Given the description of an element on the screen output the (x, y) to click on. 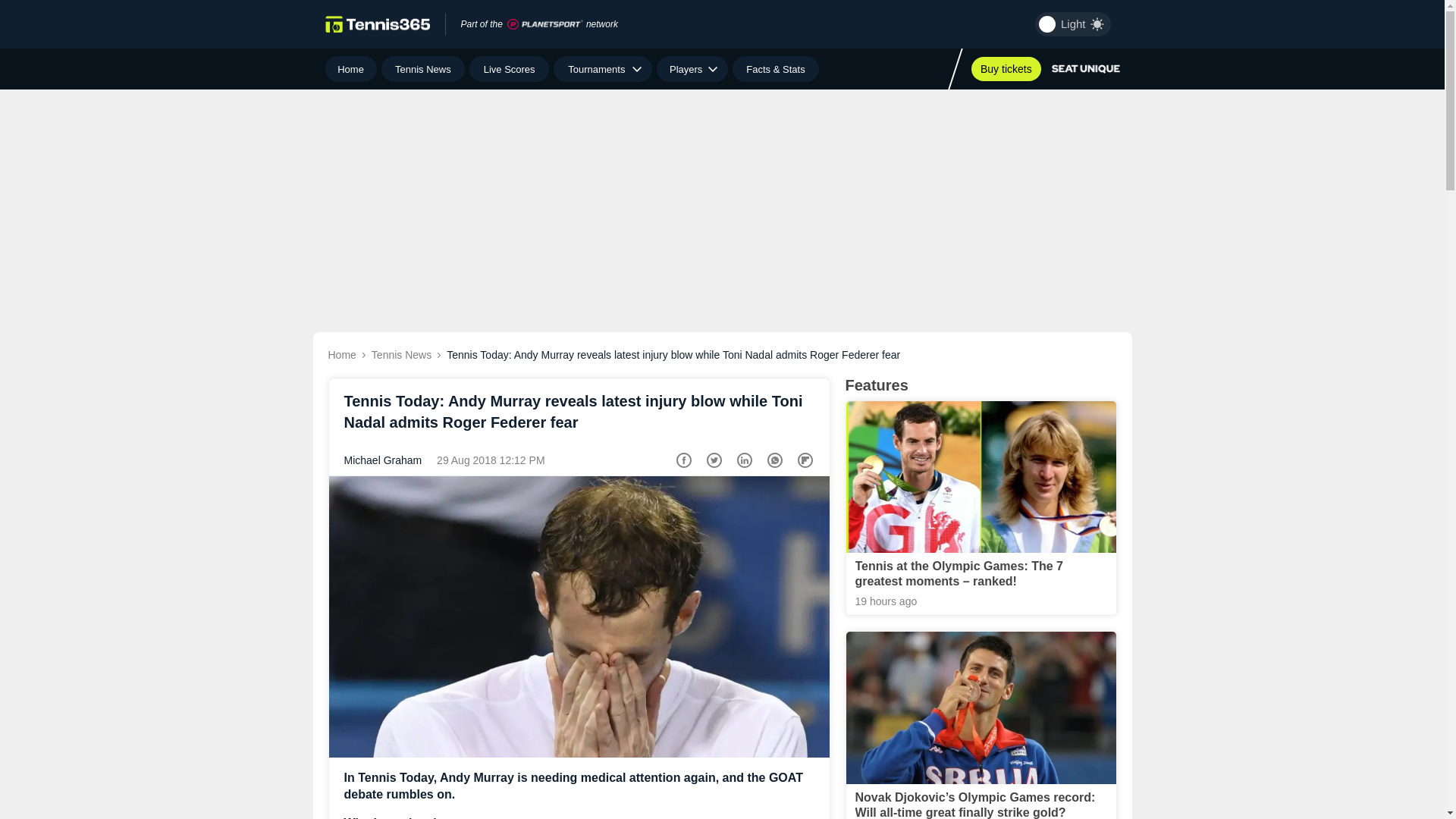
Players (692, 68)
Home (349, 68)
Tennis News (423, 68)
Tournaments (601, 68)
Buy tickets (1006, 68)
Live Scores (508, 68)
